Given the description of an element on the screen output the (x, y) to click on. 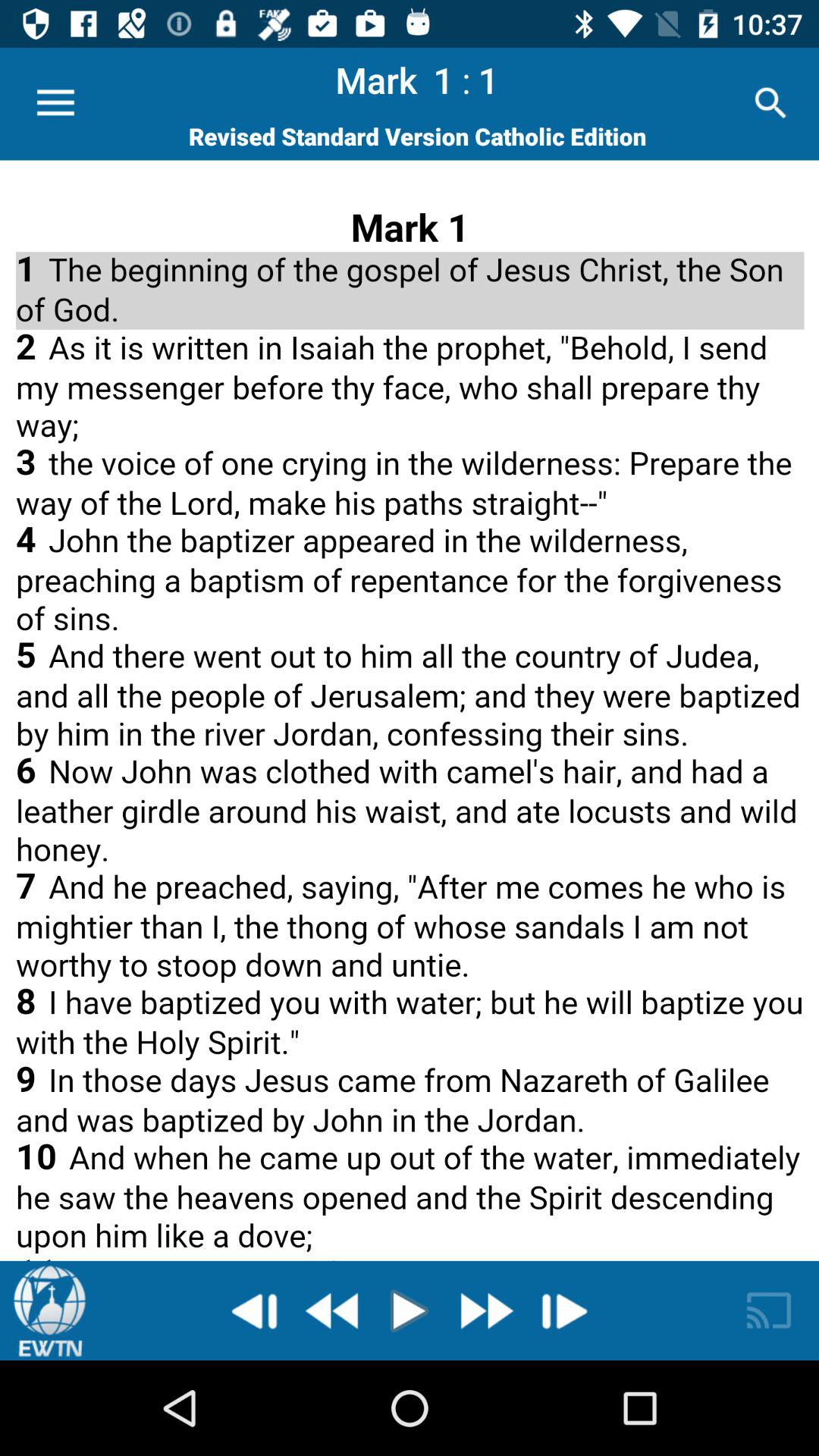
click on text (409, 710)
